Given the description of an element on the screen output the (x, y) to click on. 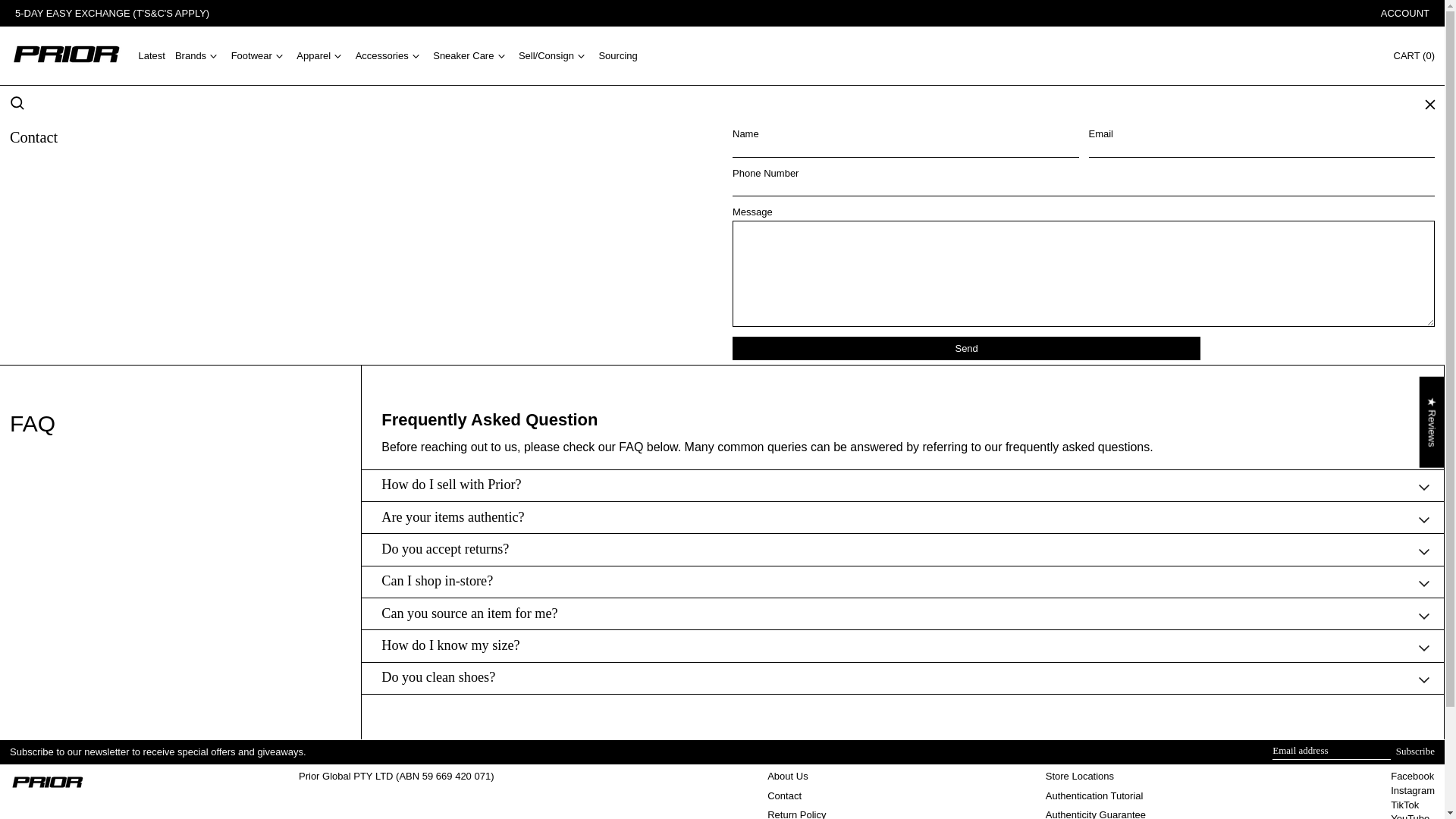
Return Policy (111, 12)
Send (965, 348)
